Given the description of an element on the screen output the (x, y) to click on. 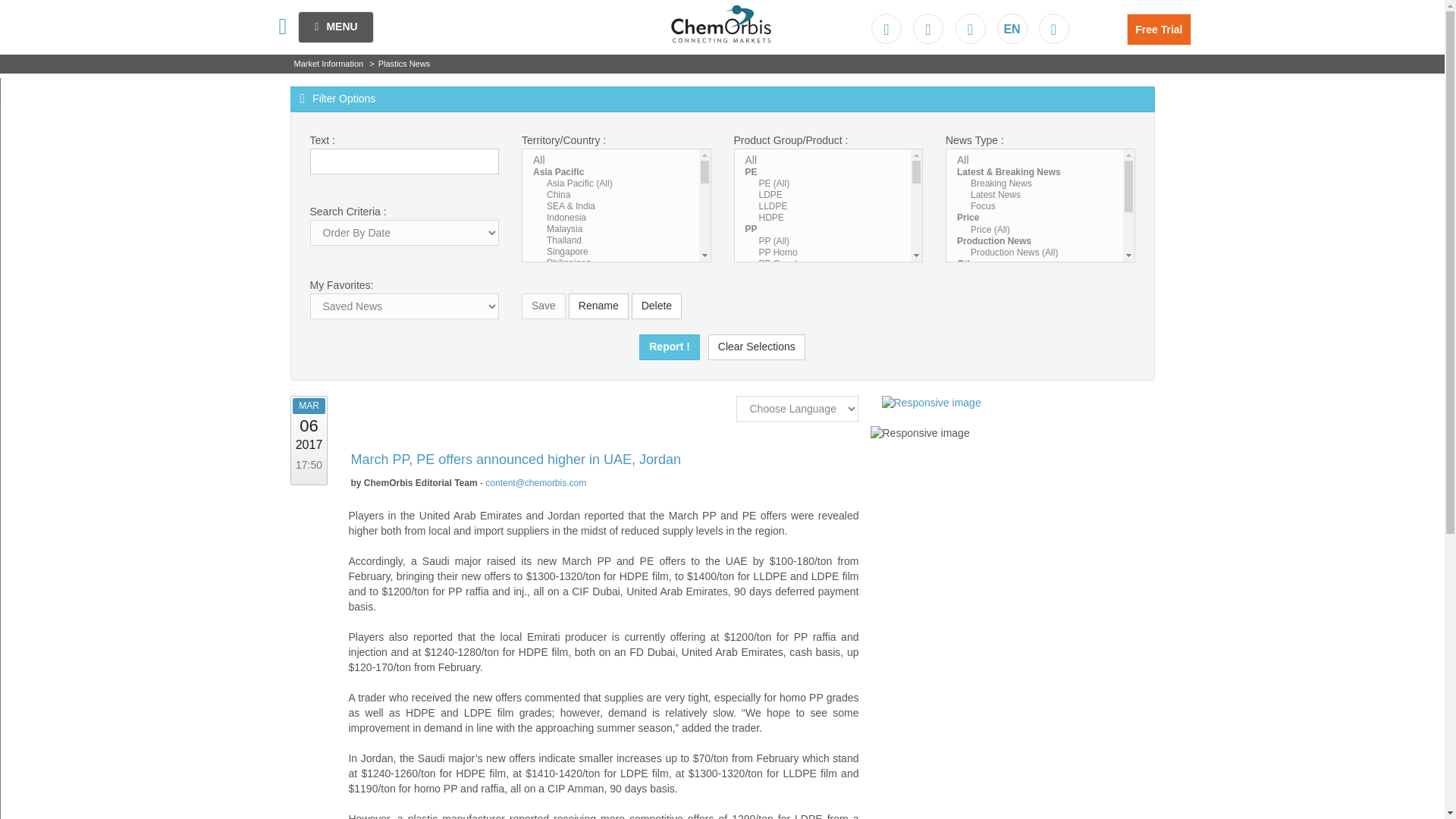
MENU (336, 27)
Support  (930, 28)
Rename (598, 306)
Free Trial (1158, 29)
Delete (656, 306)
Save (543, 306)
EN (1012, 28)
Notifications (970, 28)
Languages (1012, 28)
Report !  (669, 347)
